Given the description of an element on the screen output the (x, y) to click on. 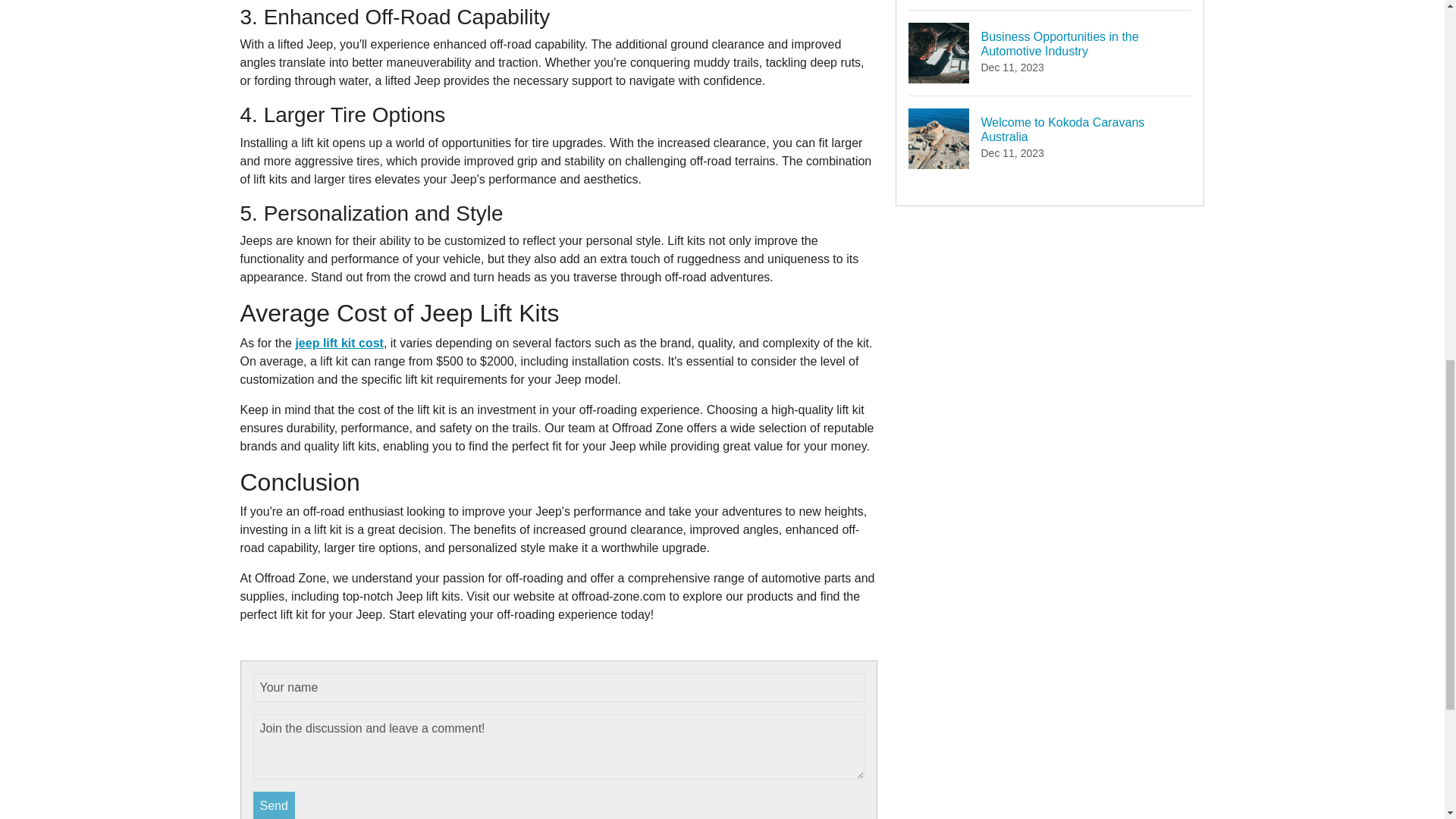
Send (1050, 137)
jeep lift kit cost (274, 805)
Send (338, 342)
